Given the description of an element on the screen output the (x, y) to click on. 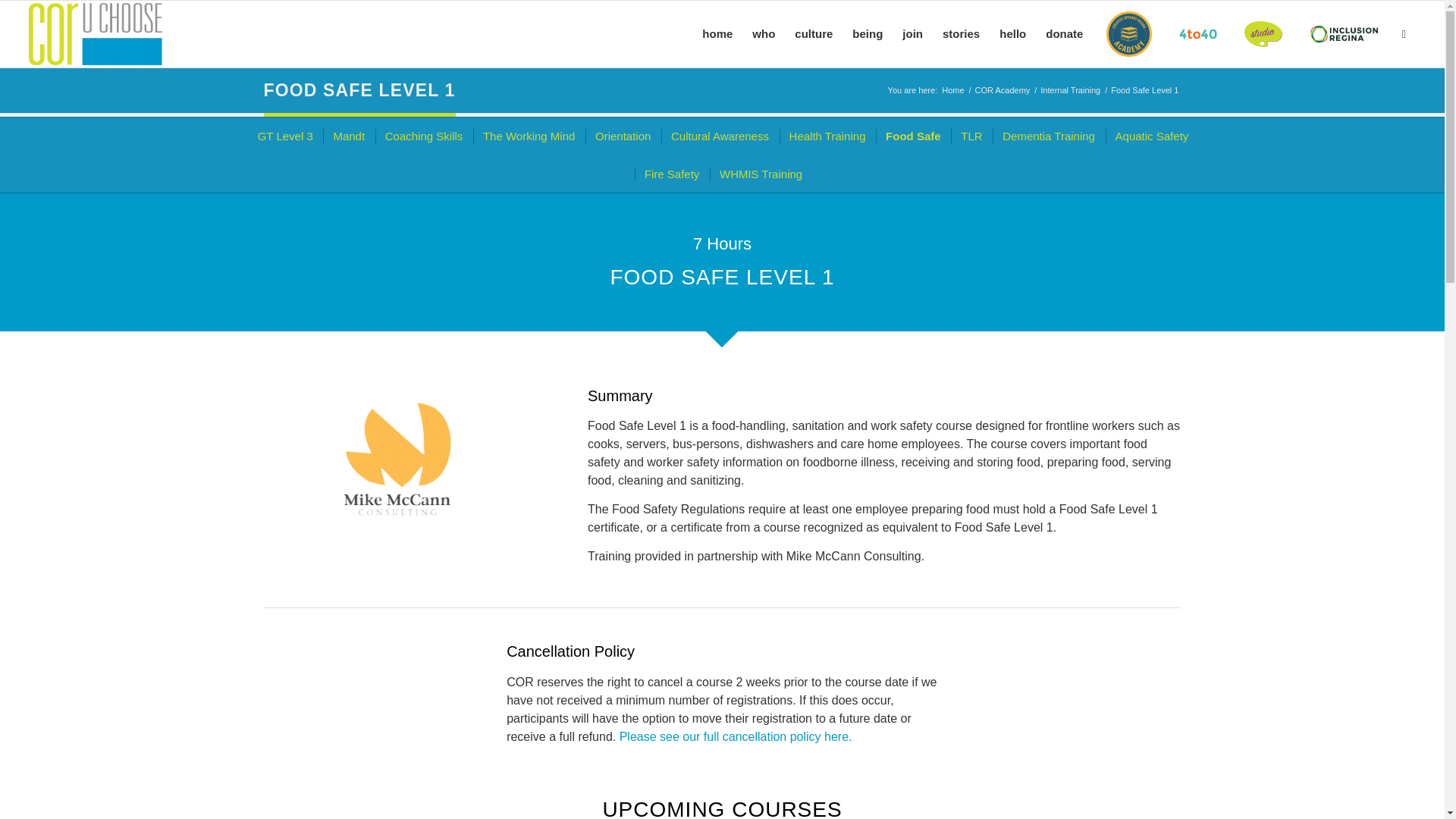
COR Studio (1262, 33)
COR Academy (1002, 90)
Internal Training (1070, 90)
Internal Training (1070, 90)
Orientation (621, 136)
TLR (970, 136)
The Working Mind (527, 136)
Dementia Training (1047, 136)
Food Safe (912, 136)
FOOD SAFE LEVEL 1 (359, 89)
Permanent Link: Food Safe Level 1 (359, 89)
Inclusion Regina (1343, 33)
GT Level 3 (284, 136)
Coaching Skills (422, 136)
4 to 40 (1198, 33)
